Given the description of an element on the screen output the (x, y) to click on. 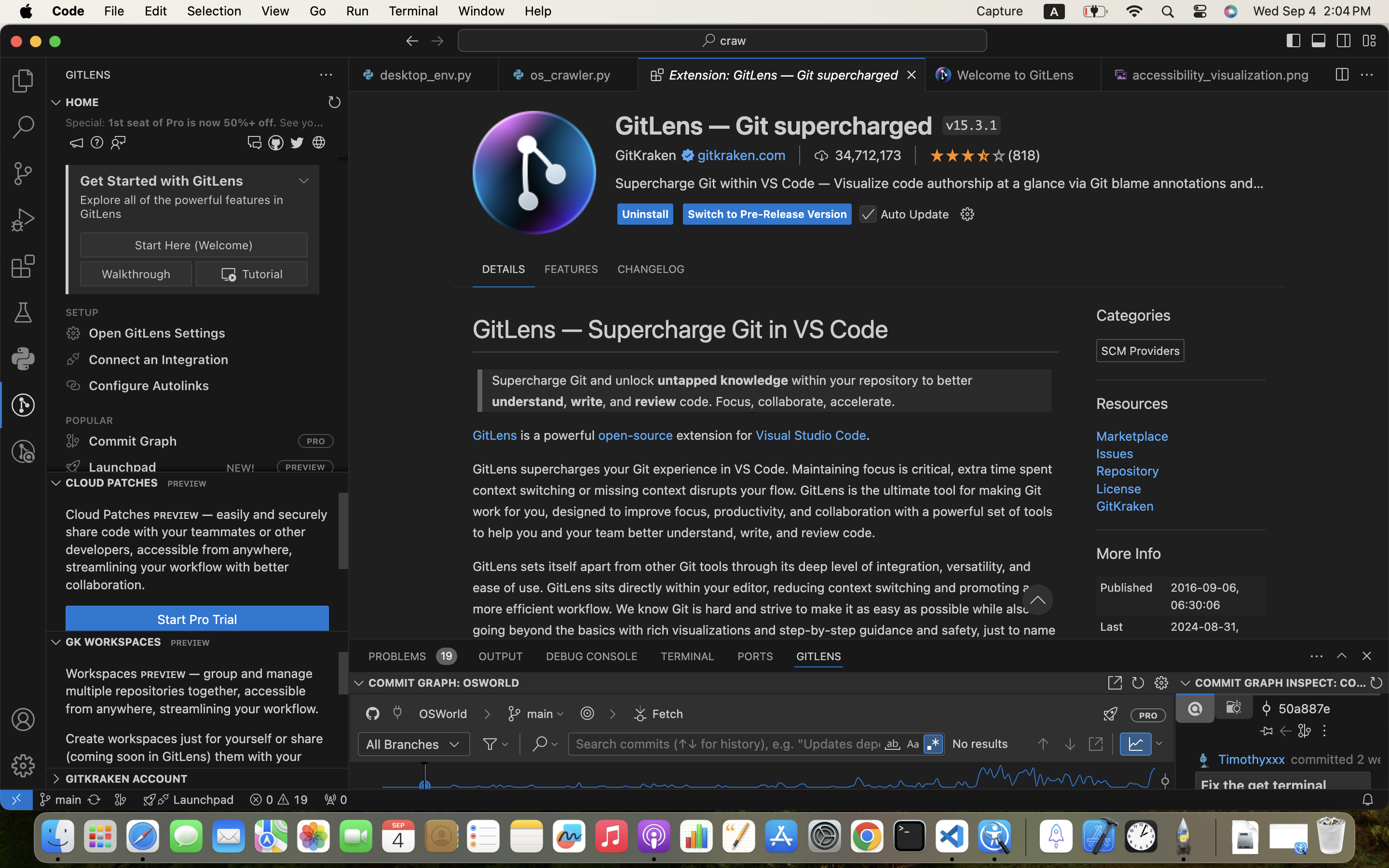
Hello GitLens Element type: AXStaticText (489, 586)
 Element type: AXStaticText (1224, 514)
 Element type: AXCheckBox (1344, 40)
 Element type: AXGroup (23, 404)
Supercharged Element type: AXStaticText (485, 609)
